Given the description of an element on the screen output the (x, y) to click on. 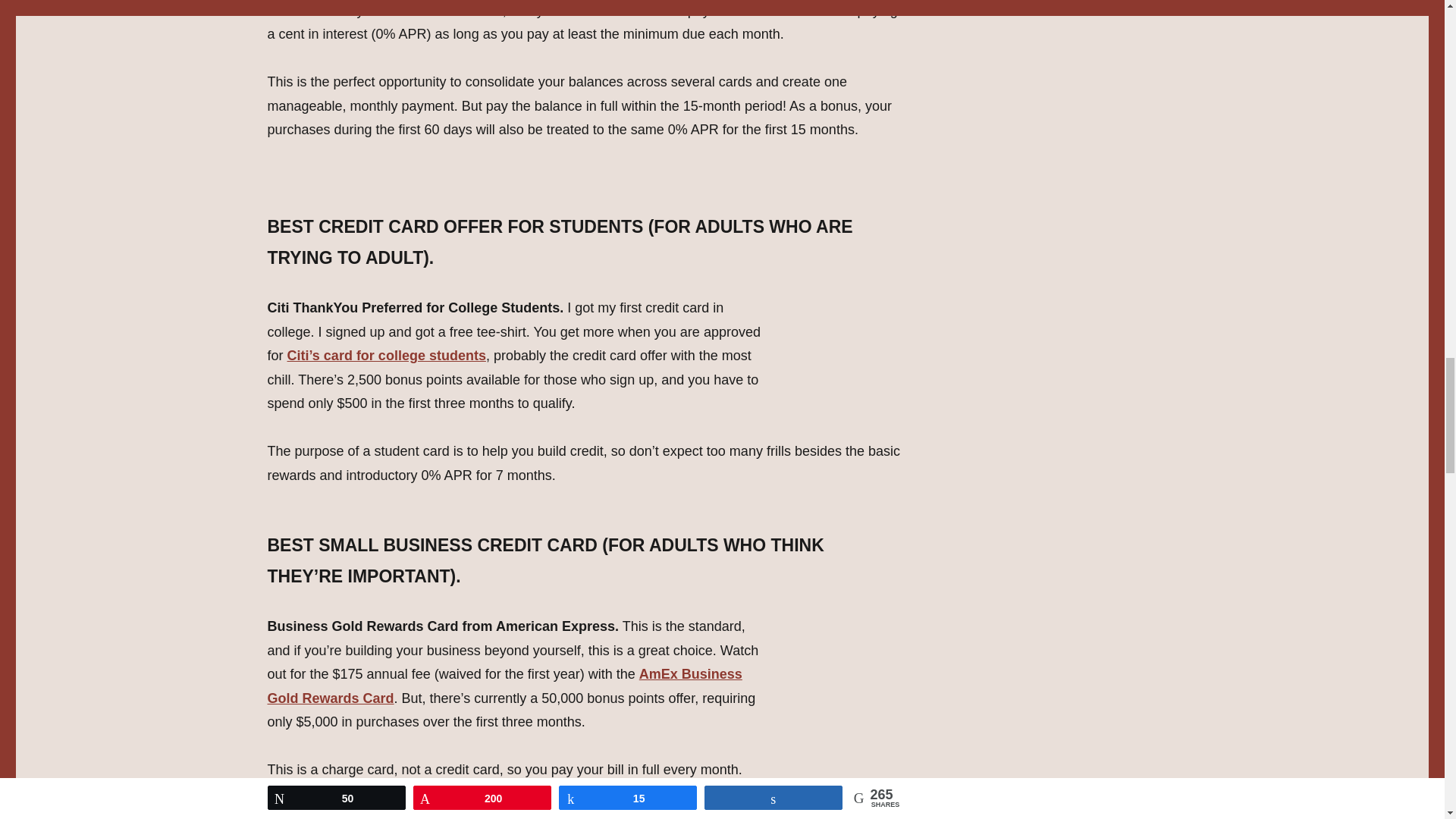
AmEx Business Gold Rewards Card (503, 685)
